Given the description of an element on the screen output the (x, y) to click on. 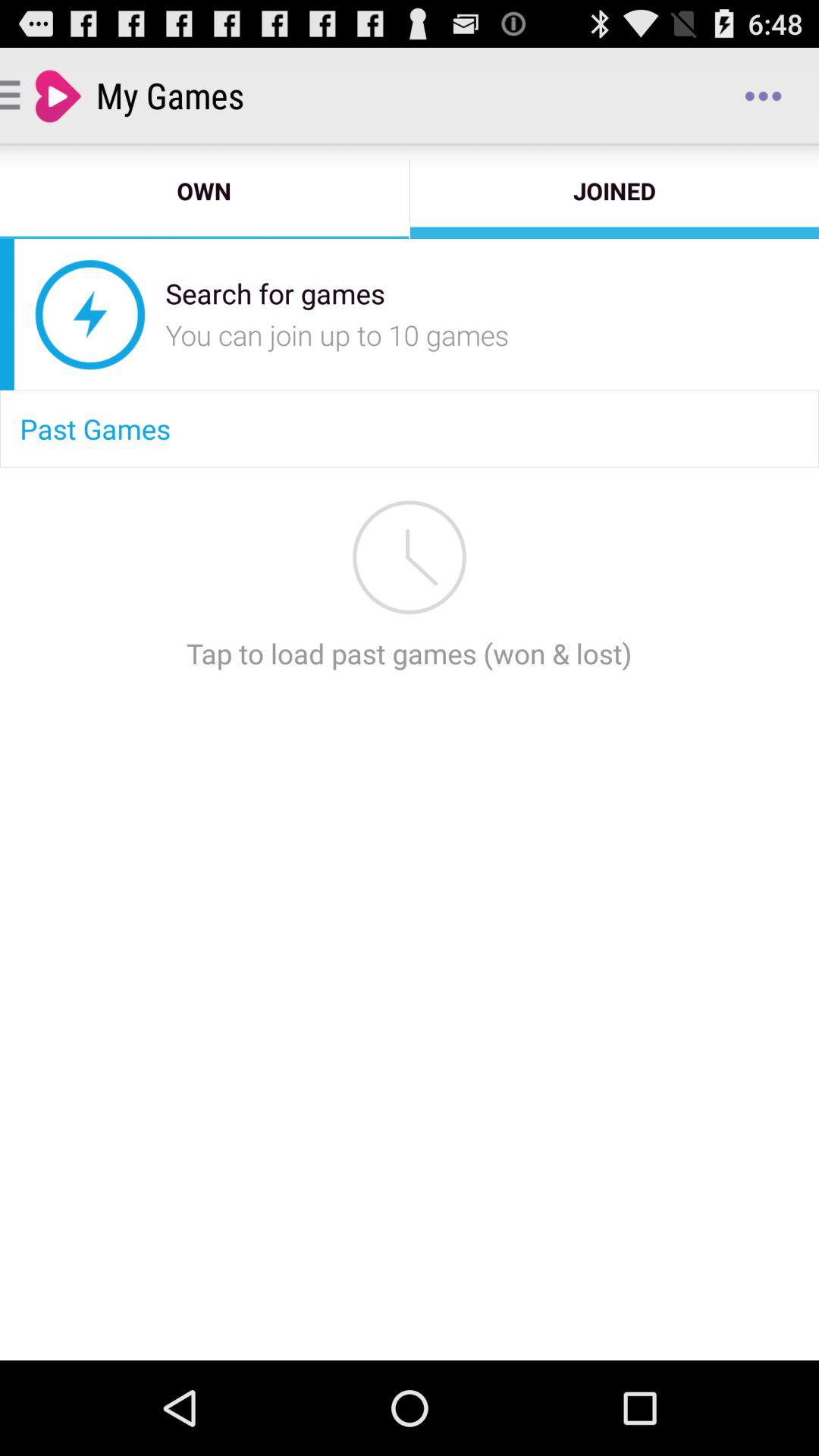
press item to the right of my games icon (763, 95)
